Given the description of an element on the screen output the (x, y) to click on. 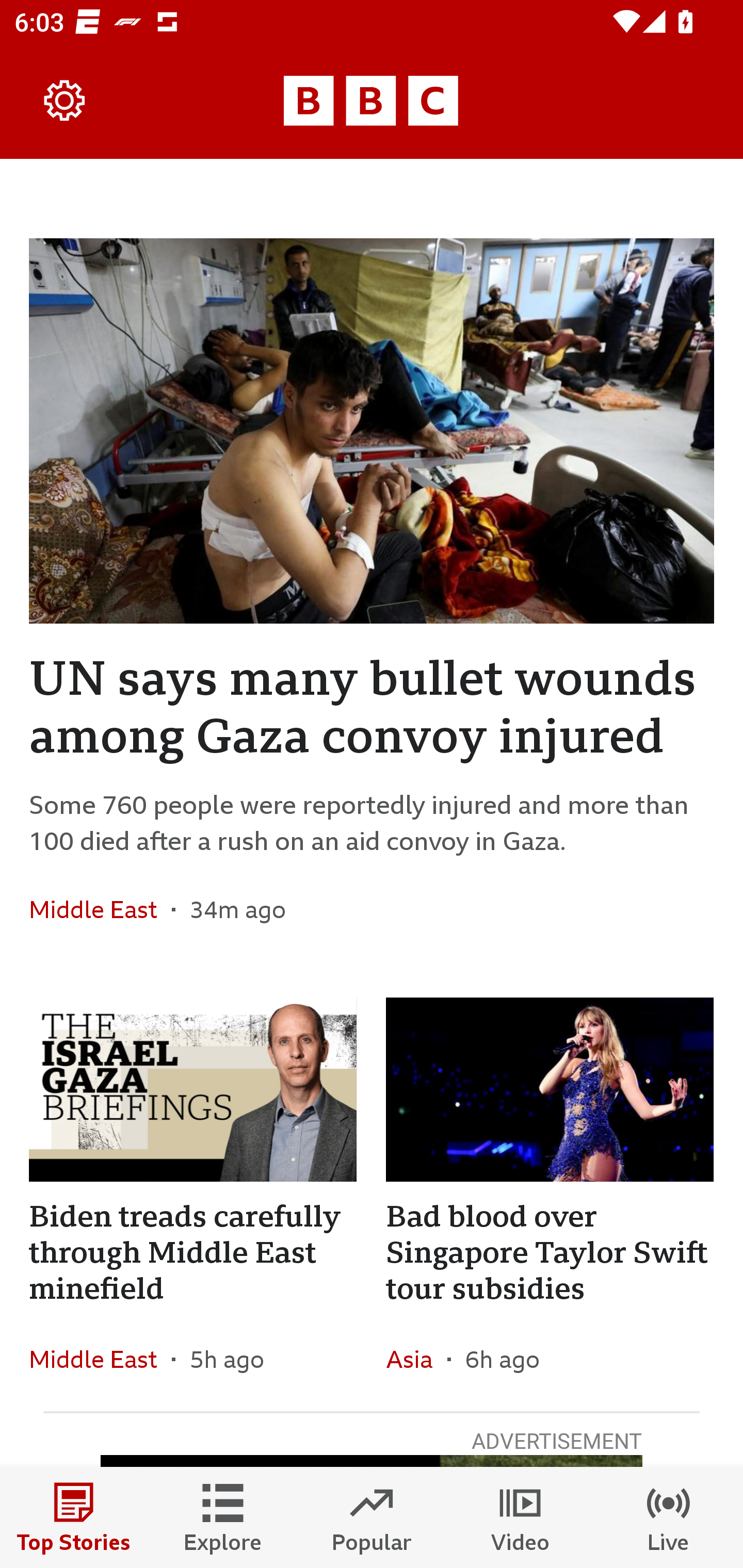
Settings (64, 100)
Middle East In the section Middle East (99, 909)
Middle East In the section Middle East (99, 1359)
Asia In the section Asia (416, 1359)
Explore (222, 1517)
Popular (371, 1517)
Video (519, 1517)
Live (668, 1517)
